Given the description of an element on the screen output the (x, y) to click on. 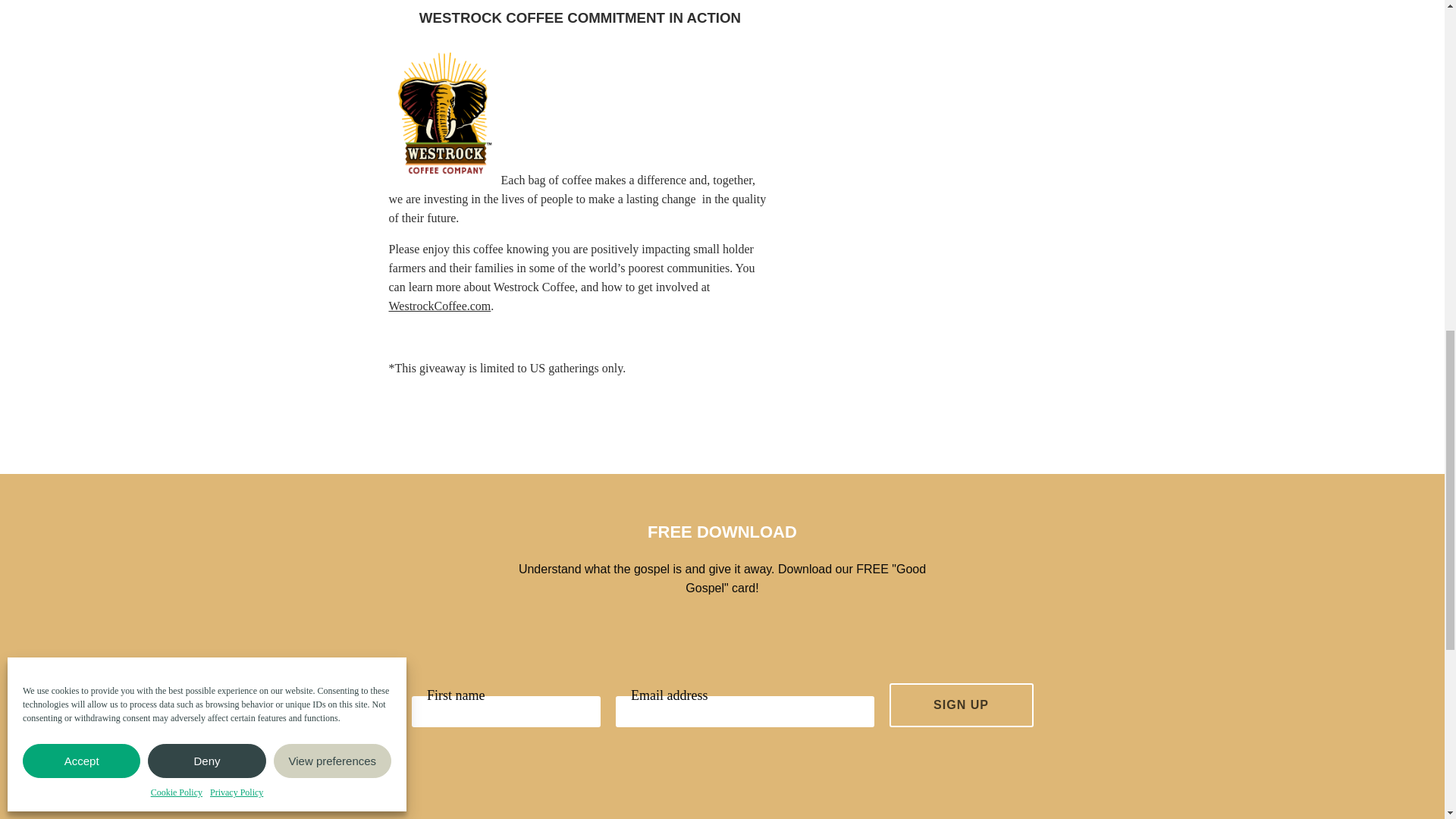
Westrock (439, 305)
